Given the description of an element on the screen output the (x, y) to click on. 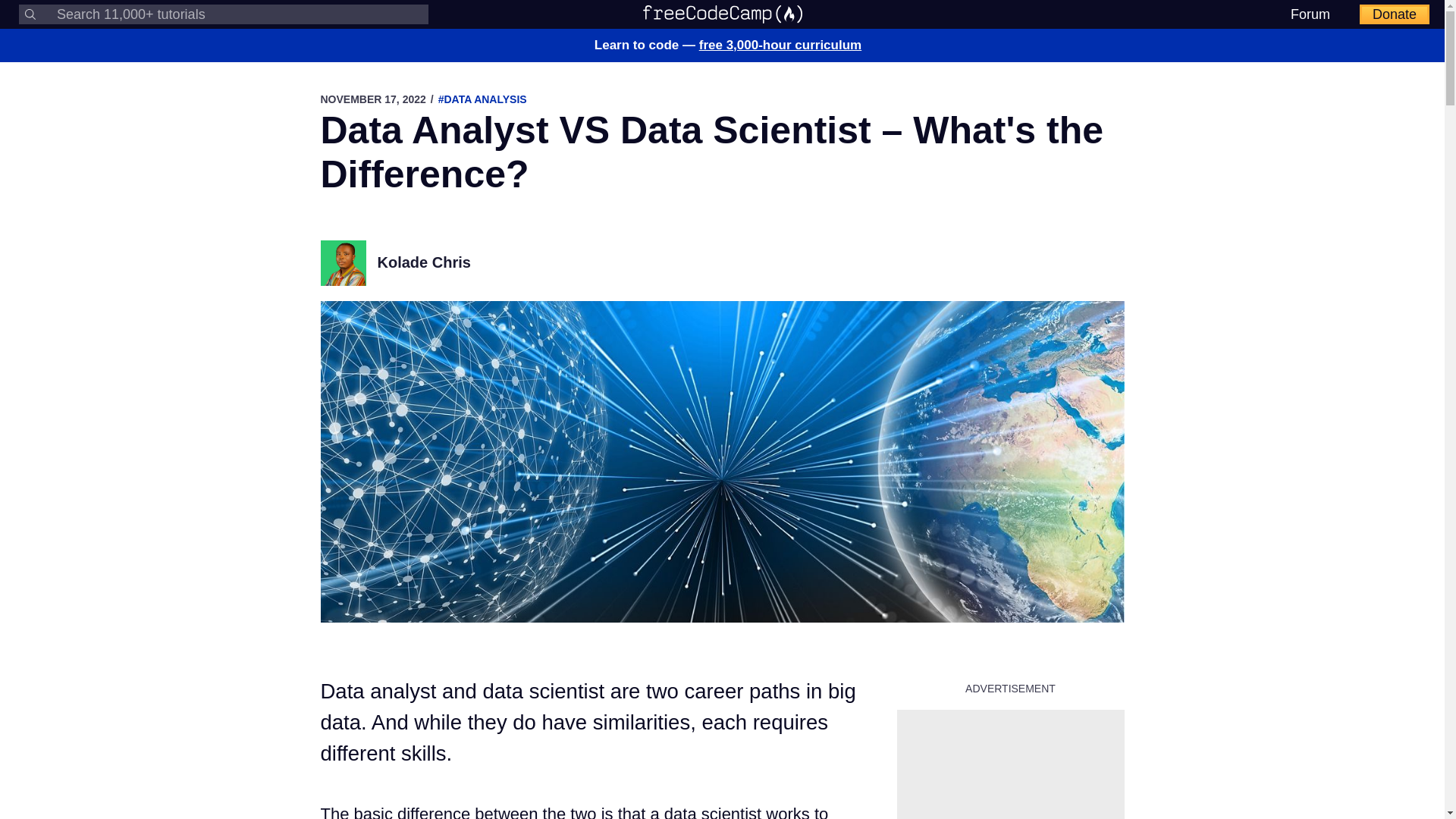
Donate (1394, 14)
Kolade Chris (423, 262)
Forum (1309, 14)
Submit your search query (30, 14)
